Given the description of an element on the screen output the (x, y) to click on. 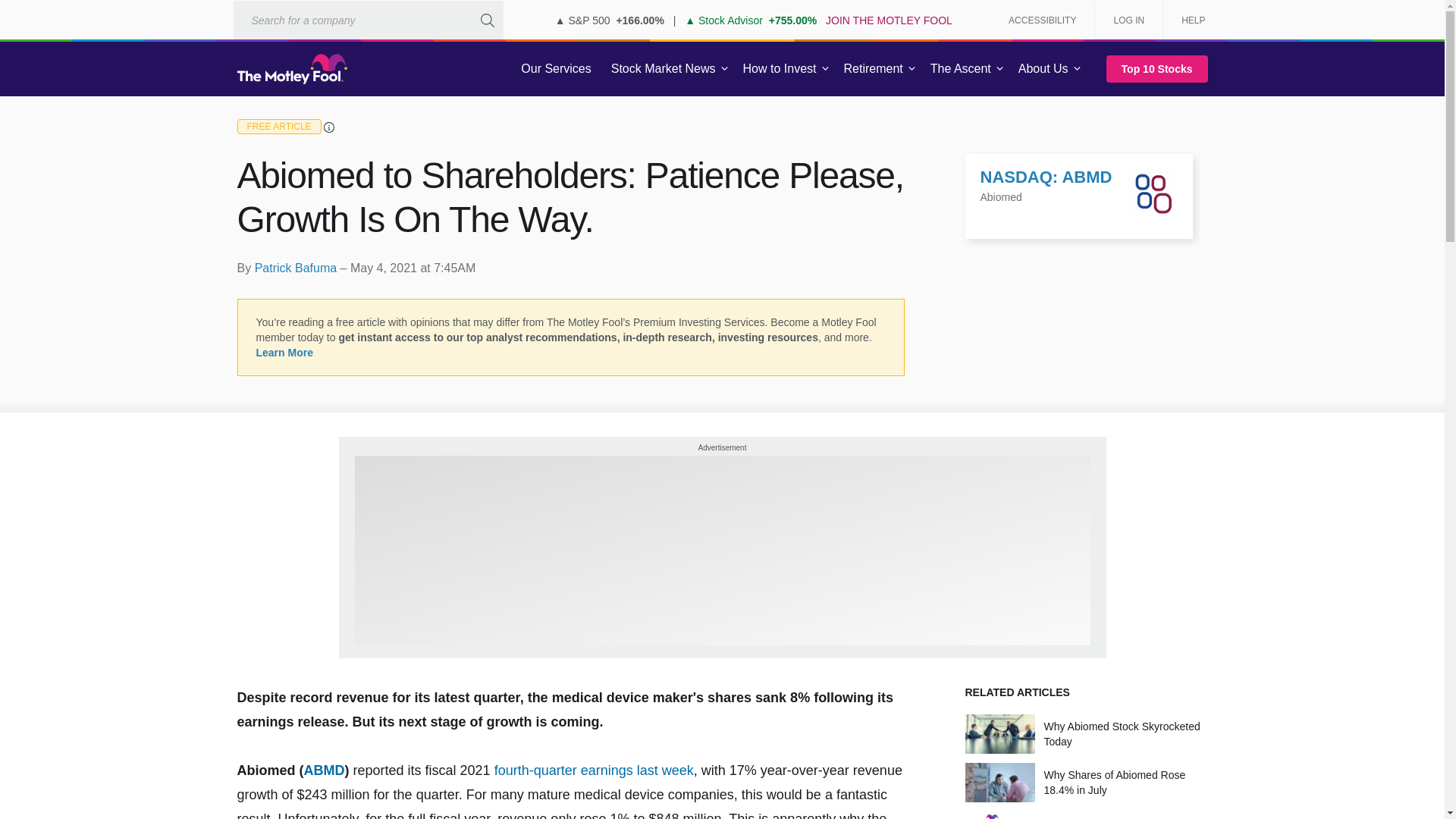
LOG IN (1128, 19)
Stock Market News (662, 68)
HELP (1187, 19)
ACCESSIBILITY (1042, 19)
Our Services (555, 68)
How to Invest (779, 68)
